Given the description of an element on the screen output the (x, y) to click on. 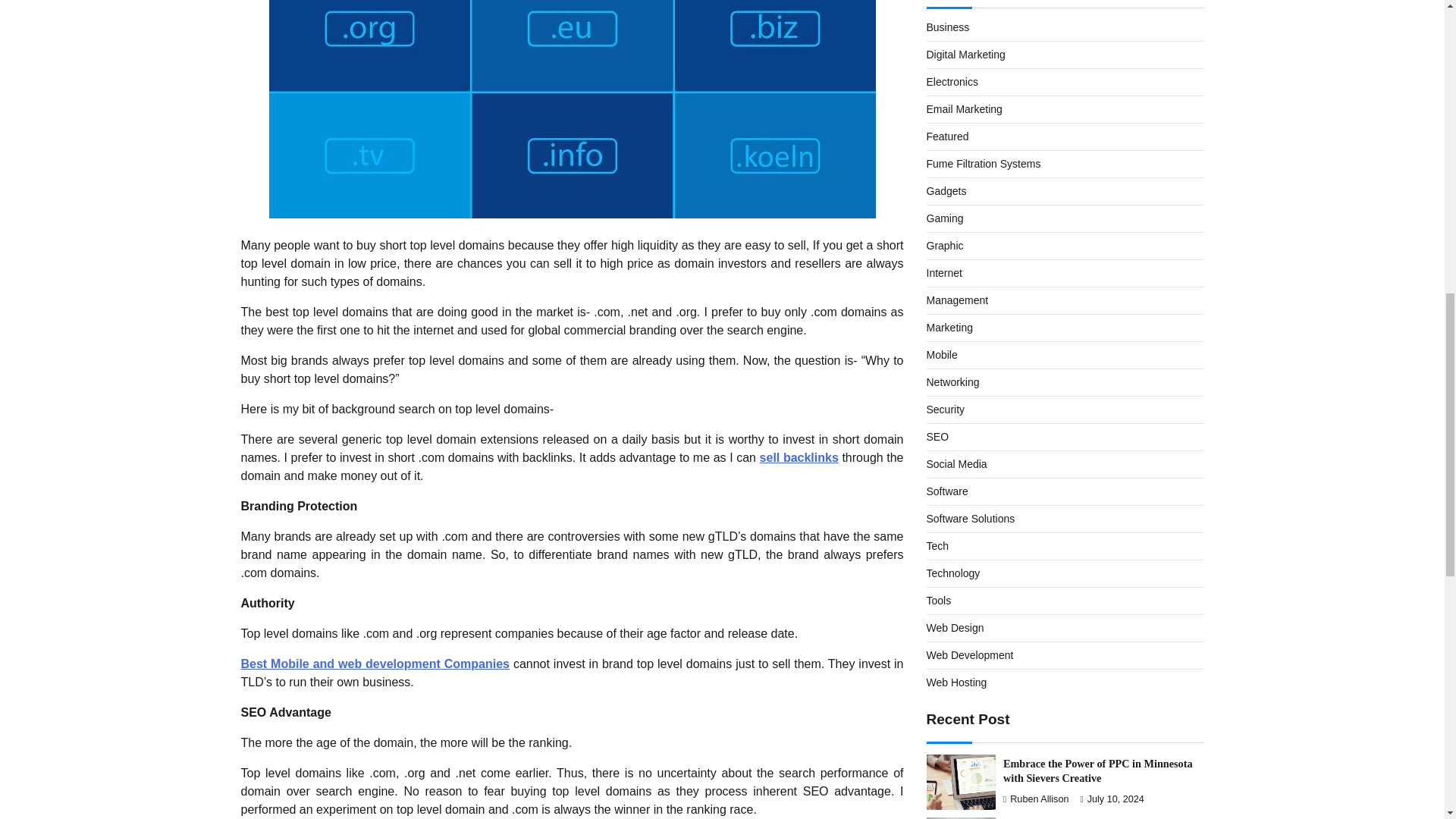
sell backlinks (799, 457)
Best Mobile and web development Companies (375, 663)
